Given the description of an element on the screen output the (x, y) to click on. 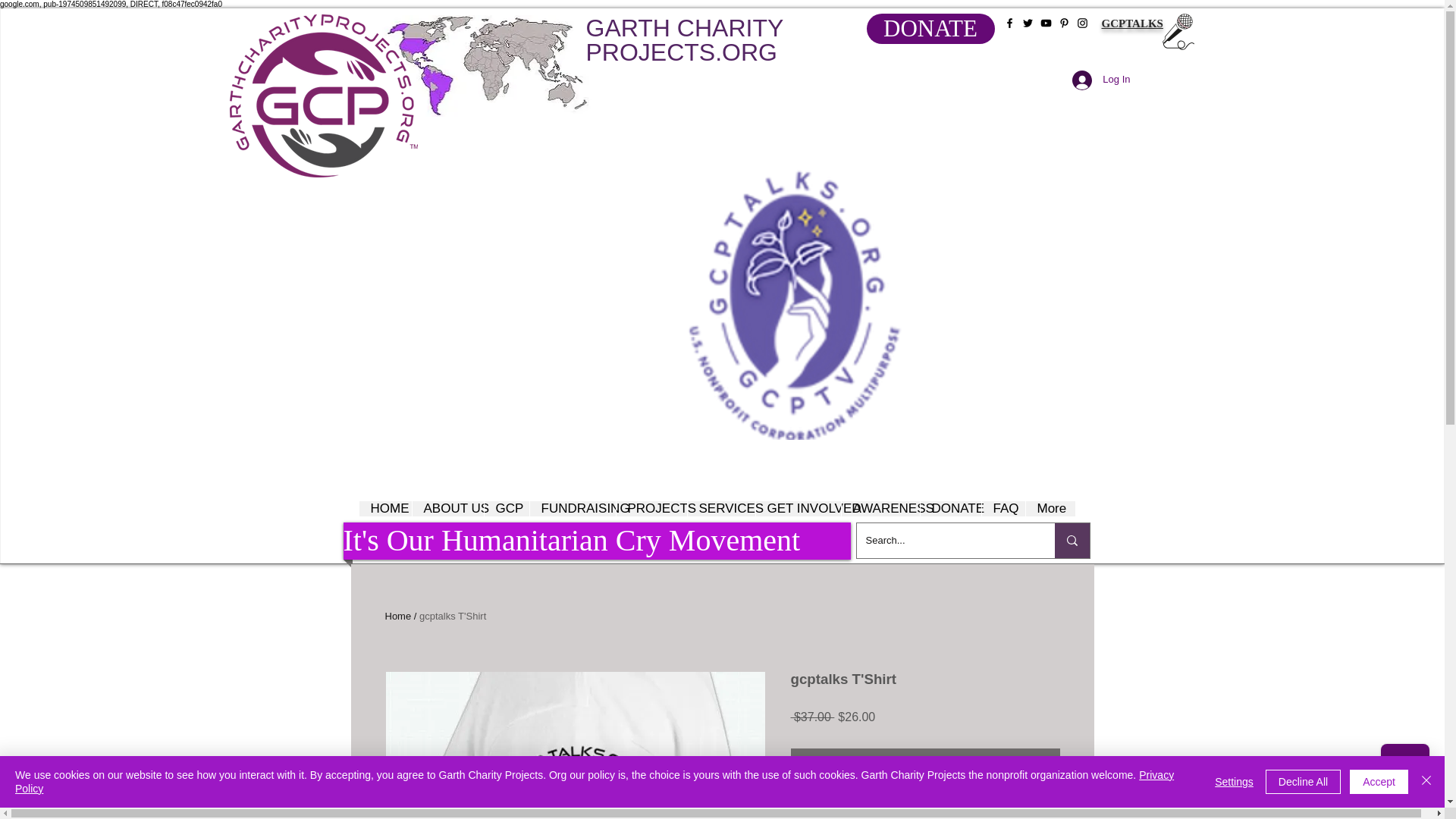
SERVICES (721, 508)
Embedded Content (1167, 533)
FUNDRAISING (572, 508)
GCPTALKS (1130, 23)
AWARENESS (879, 508)
Alt Garthcharityprojects.org (322, 95)
PROJECTS (651, 508)
DONATE (930, 28)
Log In (1100, 79)
ABOUT US (446, 508)
GCP (506, 508)
HOME (385, 508)
GARTH CHARITY PROJECTS.ORG (684, 40)
Wix Chat (1408, 771)
Alt global artwork on garthcharityprojects.org (485, 66)
